Given the description of an element on the screen output the (x, y) to click on. 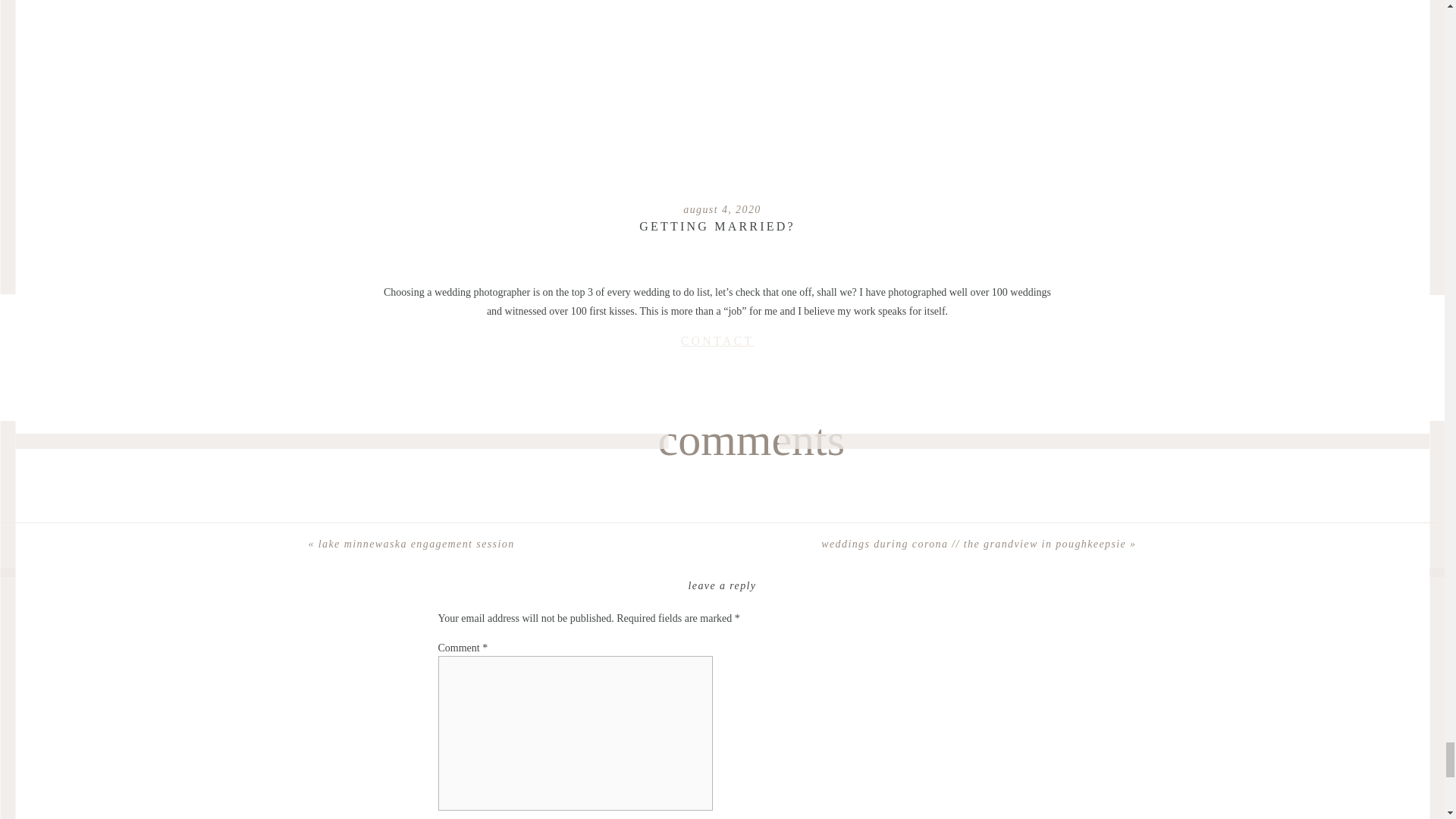
lake minnewaska engagement session (416, 543)
CONTACT (717, 339)
